Given the description of an element on the screen output the (x, y) to click on. 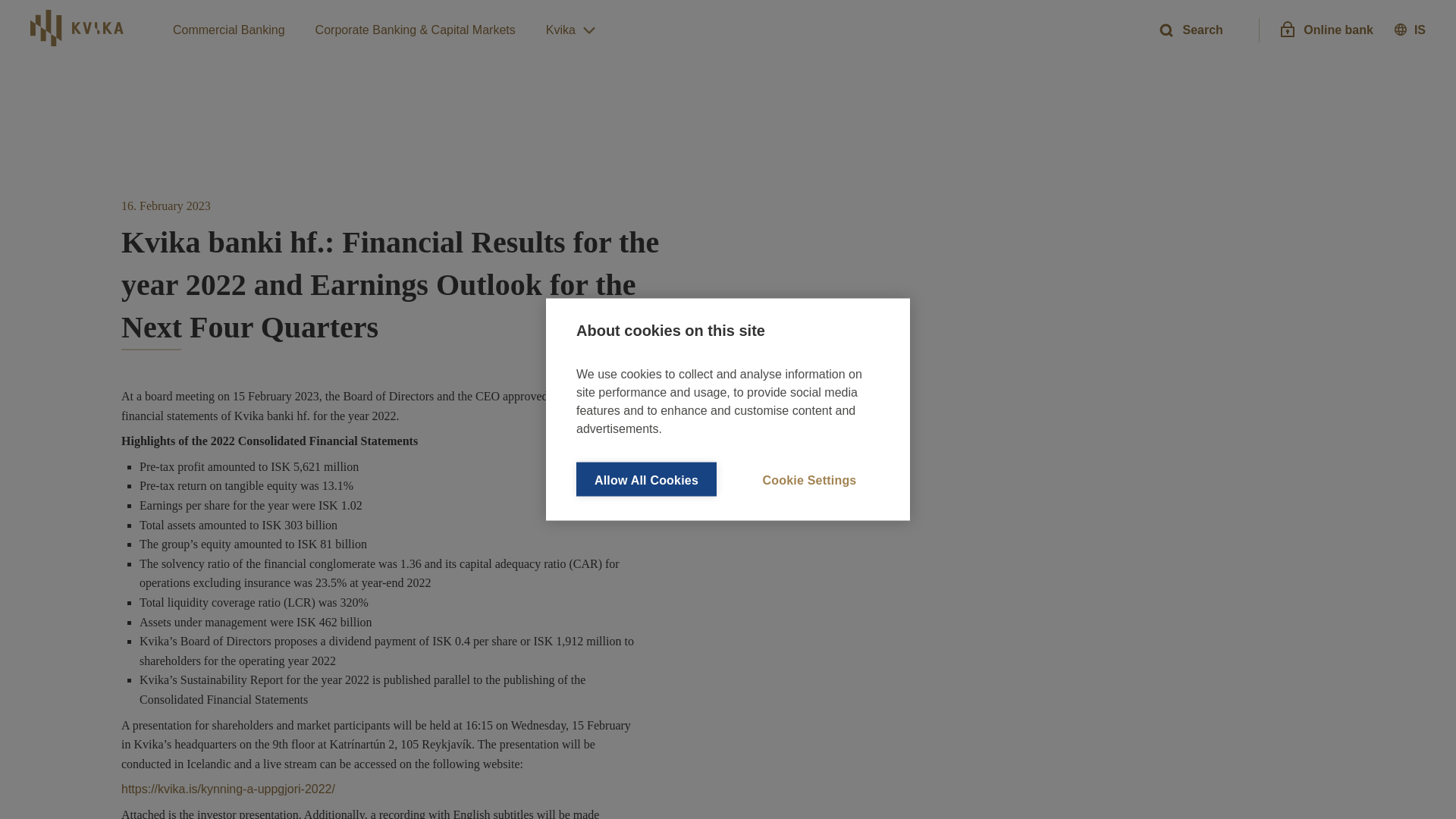
Allow All Cookies (646, 479)
IS (1409, 30)
Commercial Banking (229, 30)
Online bank (1326, 30)
Cookie Settings (809, 479)
